Given the description of an element on the screen output the (x, y) to click on. 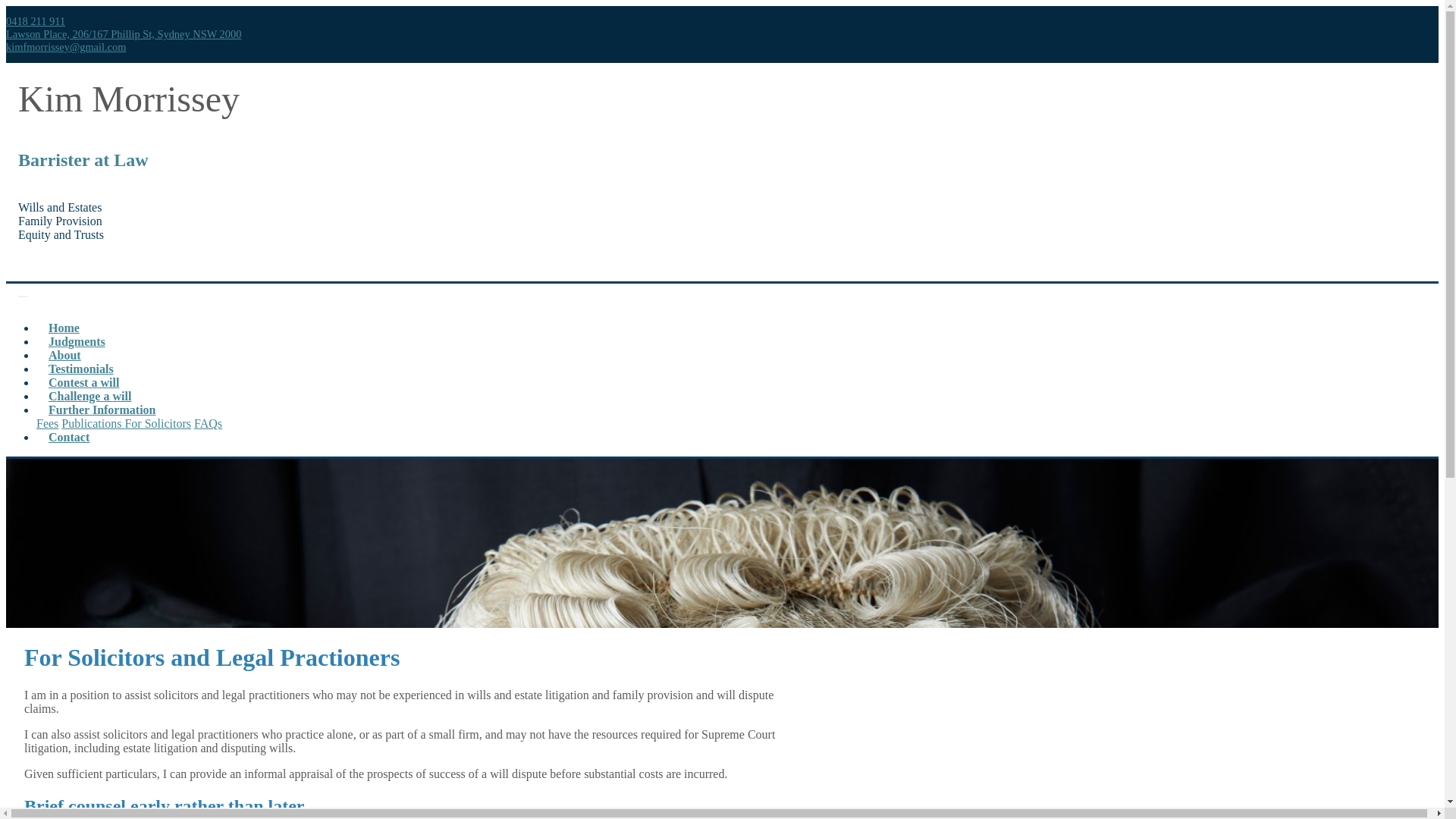
Home Element type: text (63, 327)
Publications Element type: text (92, 423)
Further Information Element type: text (101, 409)
Challenge a will Element type: text (89, 395)
For Solicitors Element type: text (157, 423)
About Element type: text (64, 354)
Contact Element type: text (68, 436)
Contest a will Element type: text (83, 382)
0418 211 911 Element type: text (35, 21)
Judgments Element type: text (76, 341)
Fees Element type: text (47, 423)
Lawson Place, 206/167 Phillip St, Sydney NSW 2000 Element type: text (123, 34)
Testimonials Element type: text (80, 368)
FAQs Element type: text (208, 423)
kimfmorrissey@gmail.com Element type: text (65, 46)
